Given the description of an element on the screen output the (x, y) to click on. 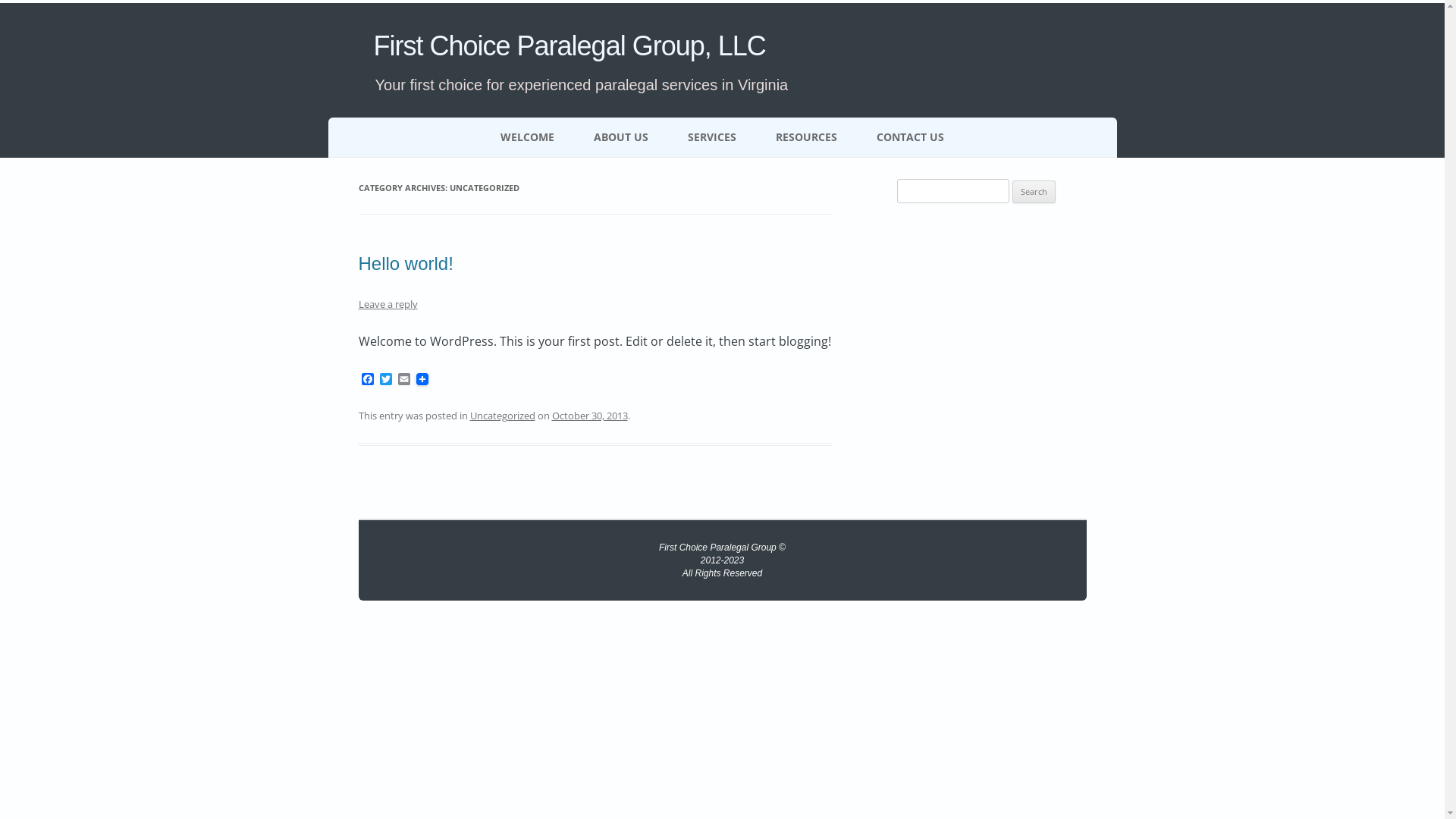
ABOUT US Element type: text (620, 136)
Leave a reply Element type: text (387, 303)
First Choice Paralegal Group, LLC Element type: text (569, 46)
Hello world! Element type: text (404, 263)
Search Element type: text (1033, 191)
Uncategorized Element type: text (502, 415)
Skip to content Element type: text (721, 117)
RESOURCES Element type: text (806, 136)
WELCOME Element type: text (527, 136)
October 30, 2013 Element type: text (589, 415)
Email Element type: text (403, 379)
SERVICES Element type: text (711, 136)
Twitter Element type: text (385, 379)
CONTACT US Element type: text (910, 136)
Facebook Element type: text (366, 379)
